Given the description of an element on the screen output the (x, y) to click on. 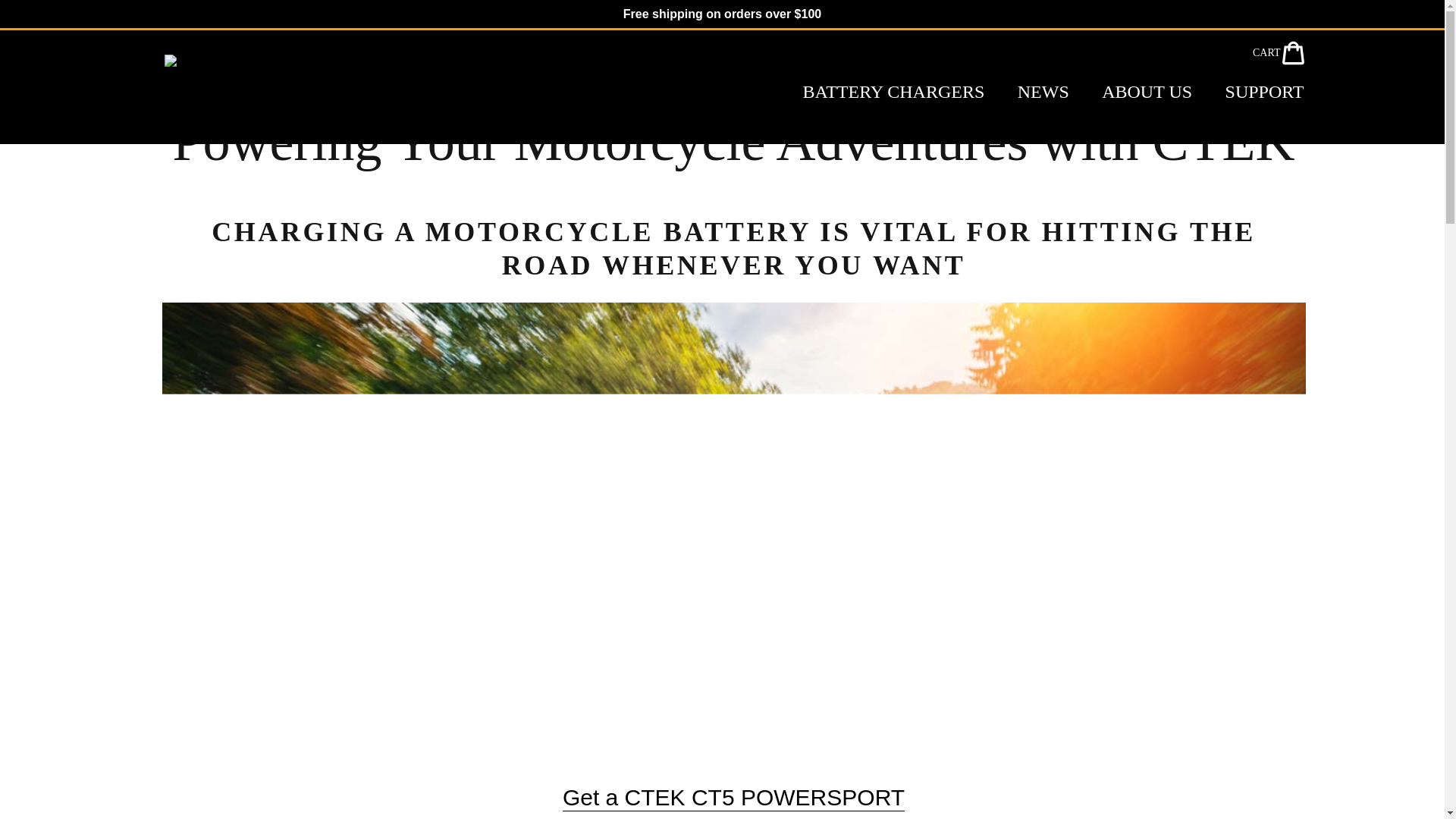
CART (1279, 51)
CTEK CT5 POWERSPORT Motorcycle battery charger (733, 797)
ABOUT US (1146, 91)
NEWS (1043, 91)
BATTERY CHARGERS (892, 91)
